Given the description of an element on the screen output the (x, y) to click on. 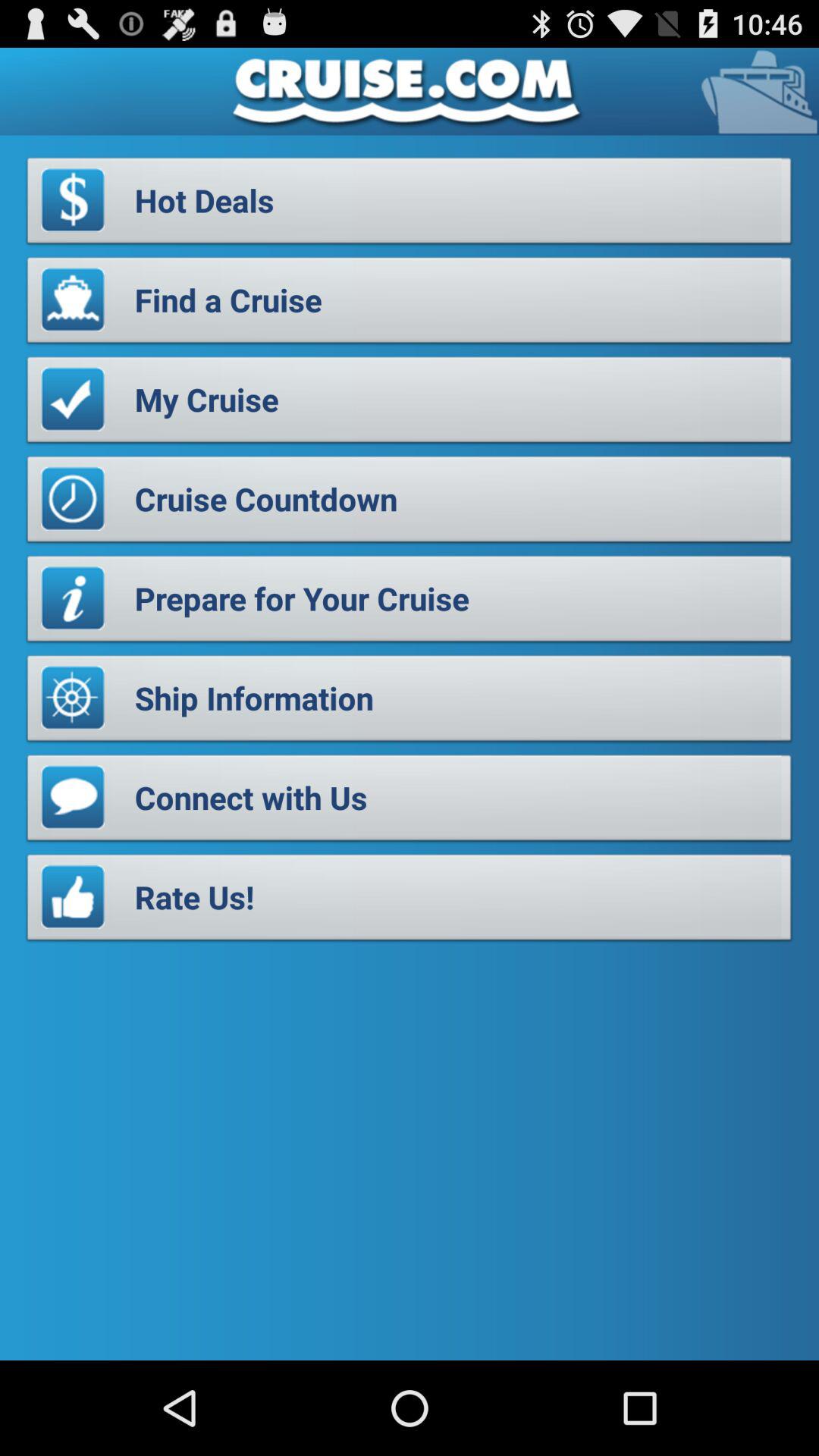
tap the ship information item (409, 702)
